Given the description of an element on the screen output the (x, y) to click on. 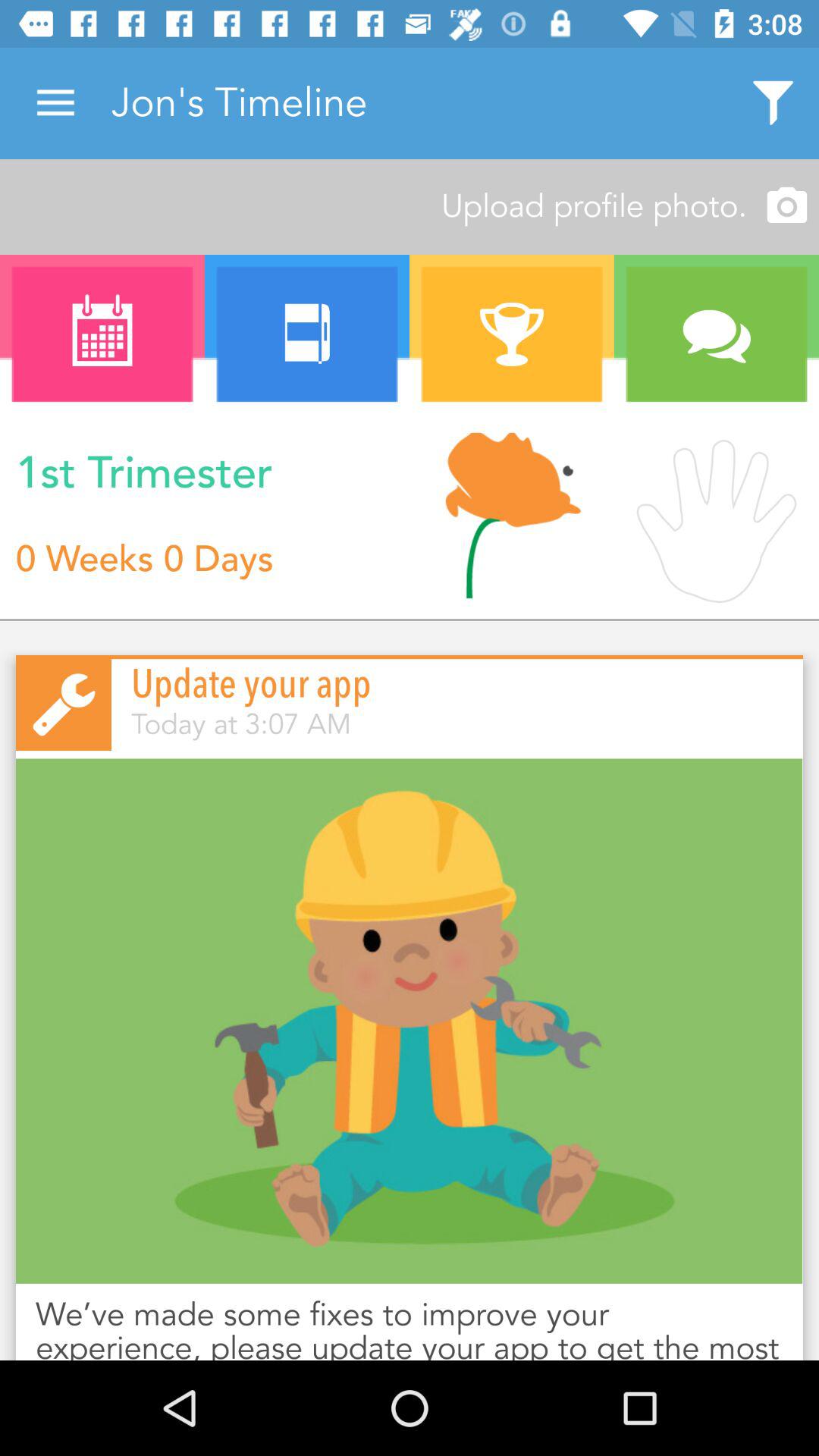
update (409, 1020)
